Given the description of an element on the screen output the (x, y) to click on. 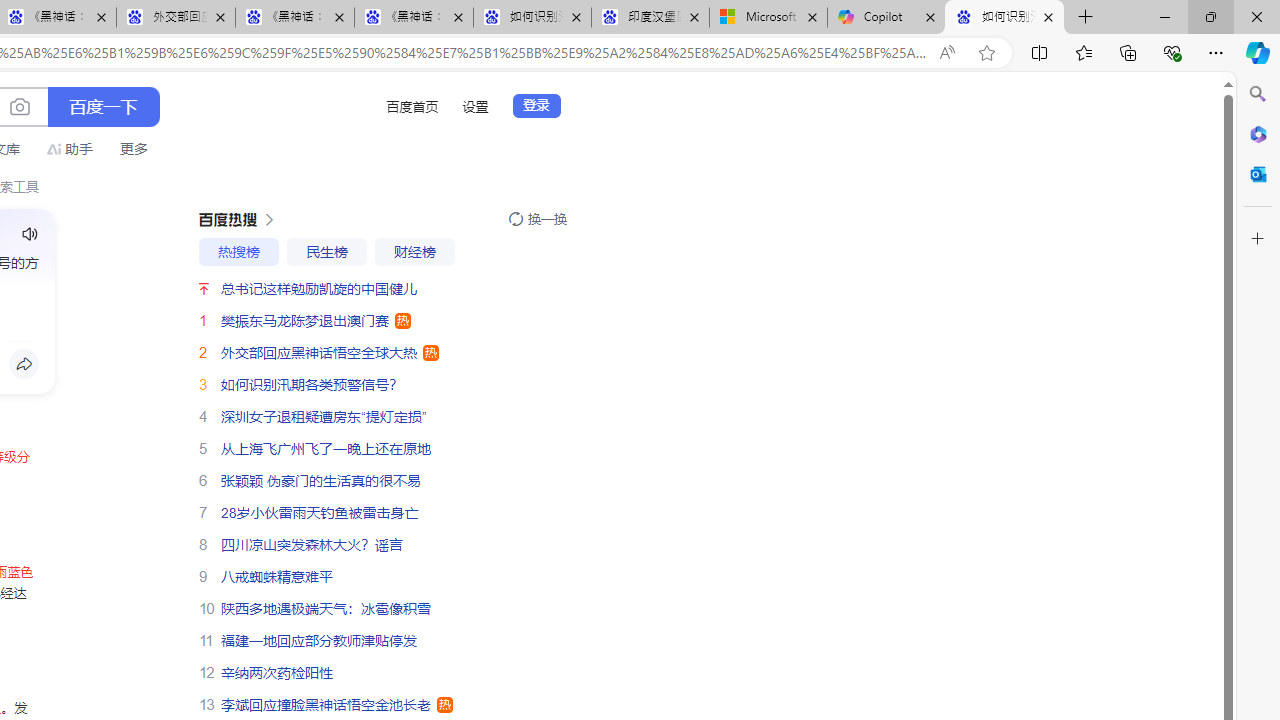
Copilot (886, 17)
